Given the description of an element on the screen output the (x, y) to click on. 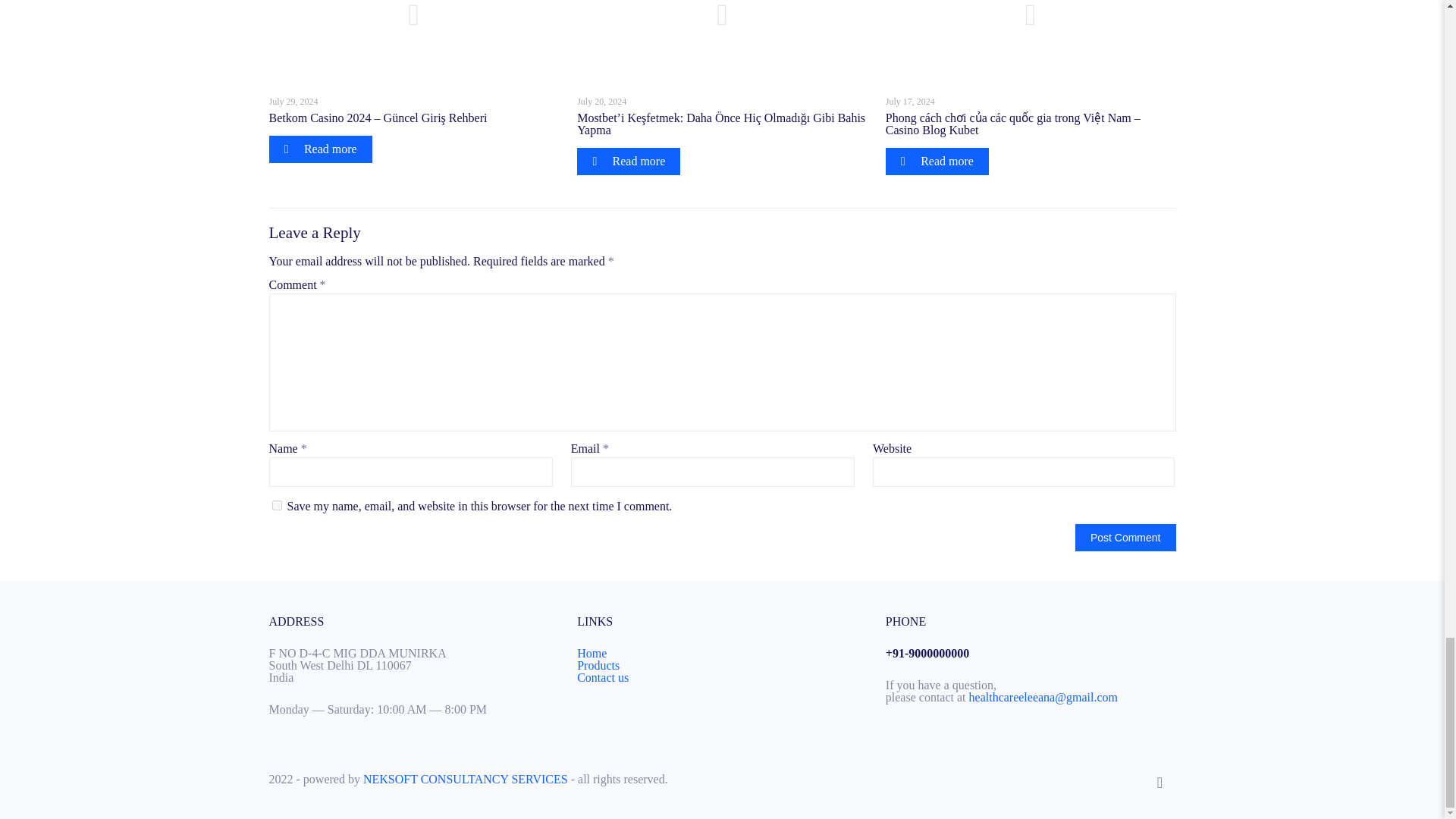
Facebook (1079, 779)
yes (275, 505)
Post Comment (1125, 537)
Twitter (1100, 779)
Instagram (1121, 779)
